Given the description of an element on the screen output the (x, y) to click on. 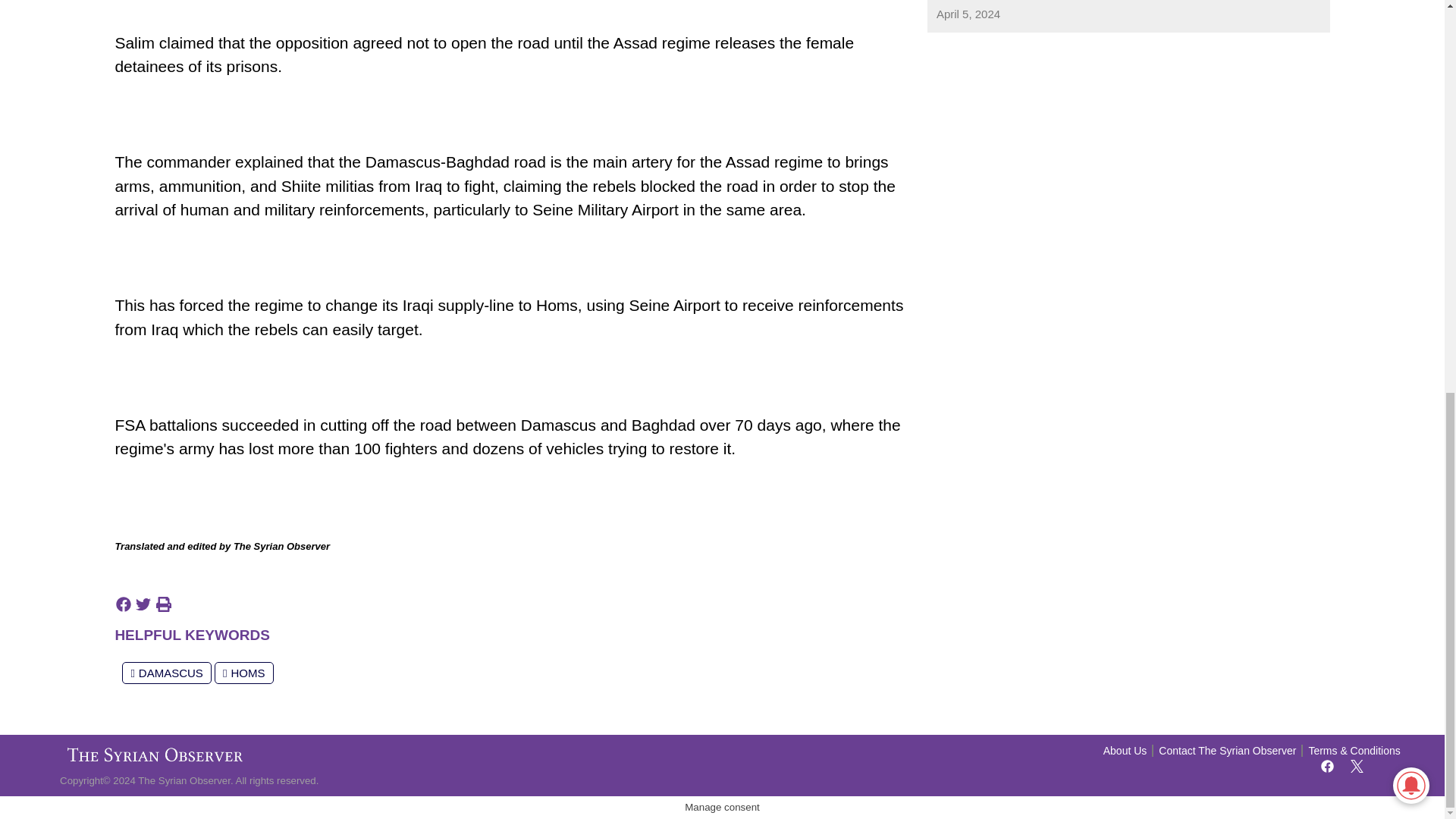
April 5, 2024 (968, 14)
DAMASCUS (166, 672)
About Us (1125, 750)
Contact The Syrian Observer (1227, 750)
HOMS (243, 672)
